Given the description of an element on the screen output the (x, y) to click on. 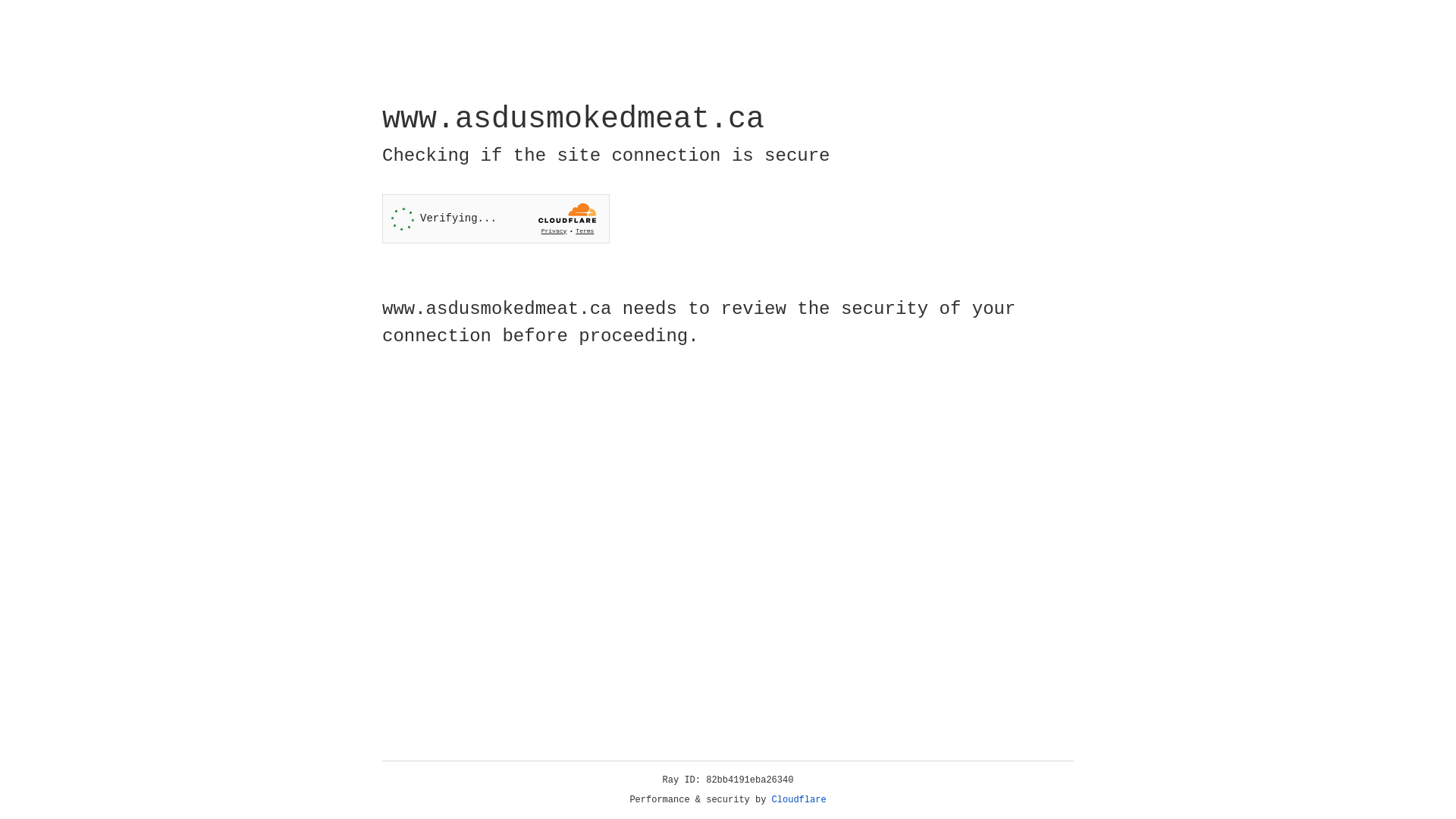
Cloudflare Element type: text (798, 799)
Widget containing a Cloudflare security challenge Element type: hover (495, 218)
